Given the description of an element on the screen output the (x, y) to click on. 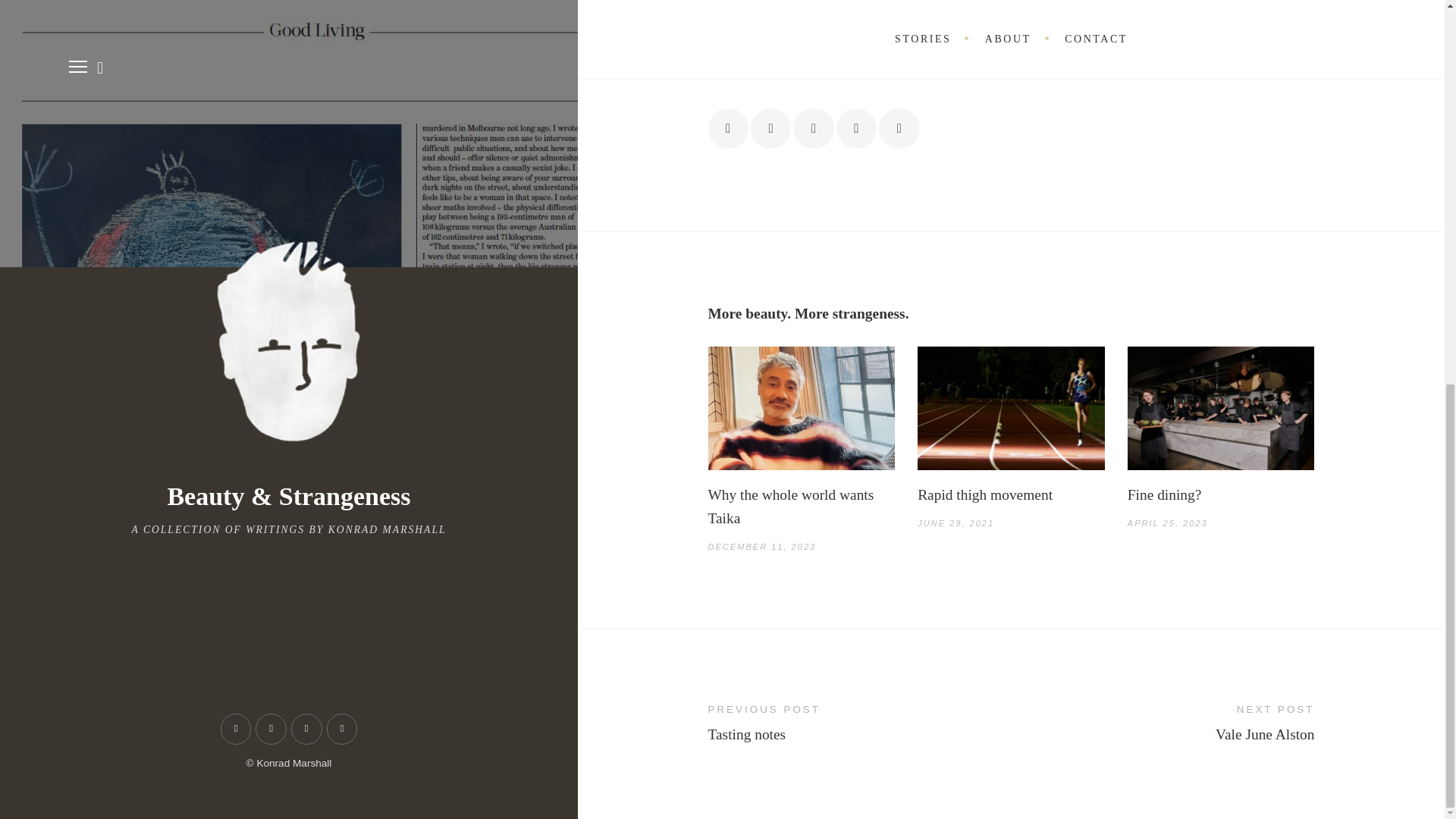
Pin It (855, 128)
Fine dining? (1220, 494)
Rapid thigh movement (1011, 494)
Why the whole world wants Taika (801, 506)
Fine dining? (1220, 408)
Share on Google Plus (1162, 721)
Tweet It (812, 128)
Share on Facebook (770, 128)
